Given the description of an element on the screen output the (x, y) to click on. 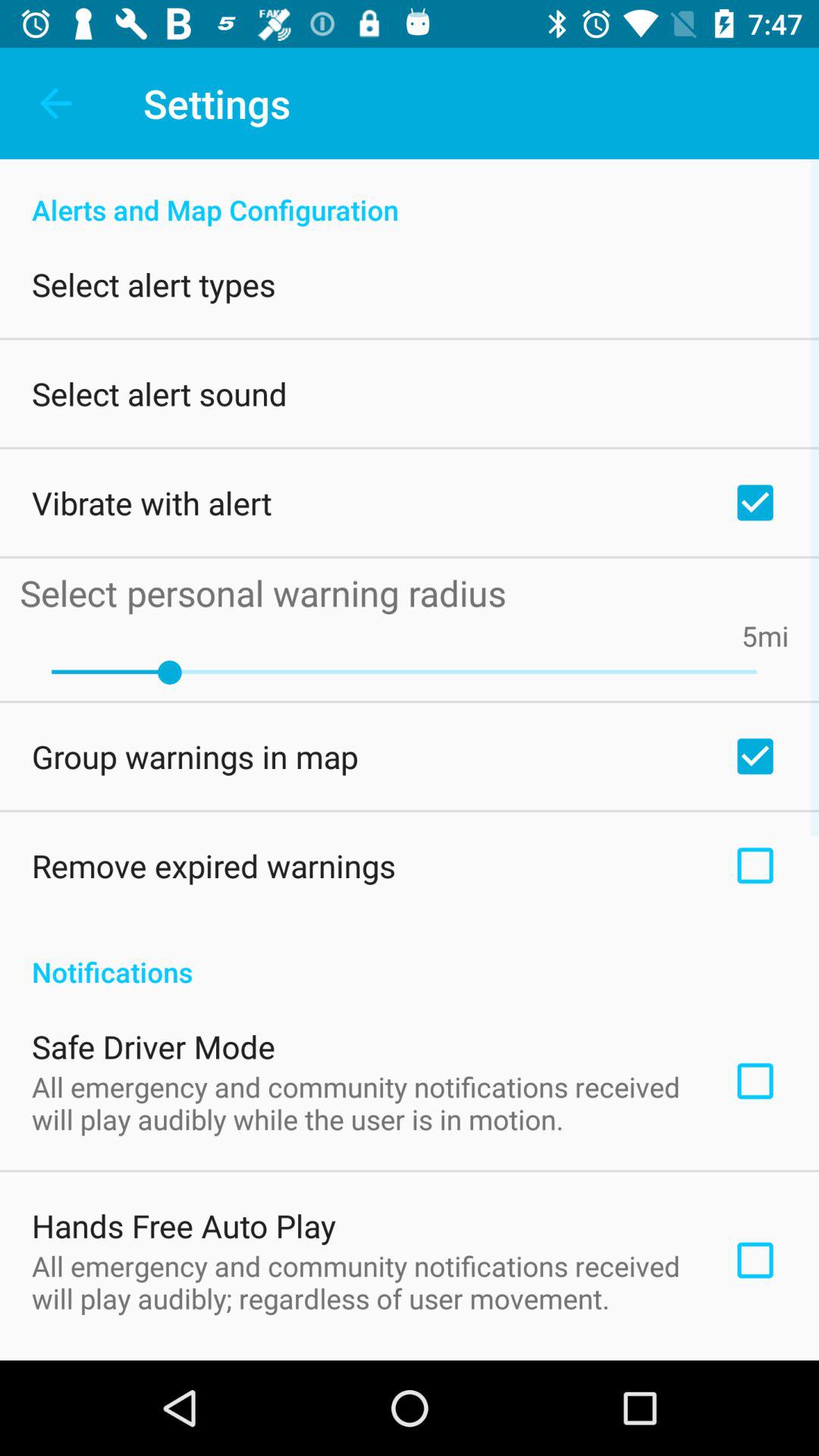
click the select personal warning icon (403, 592)
